Given the description of an element on the screen output the (x, y) to click on. 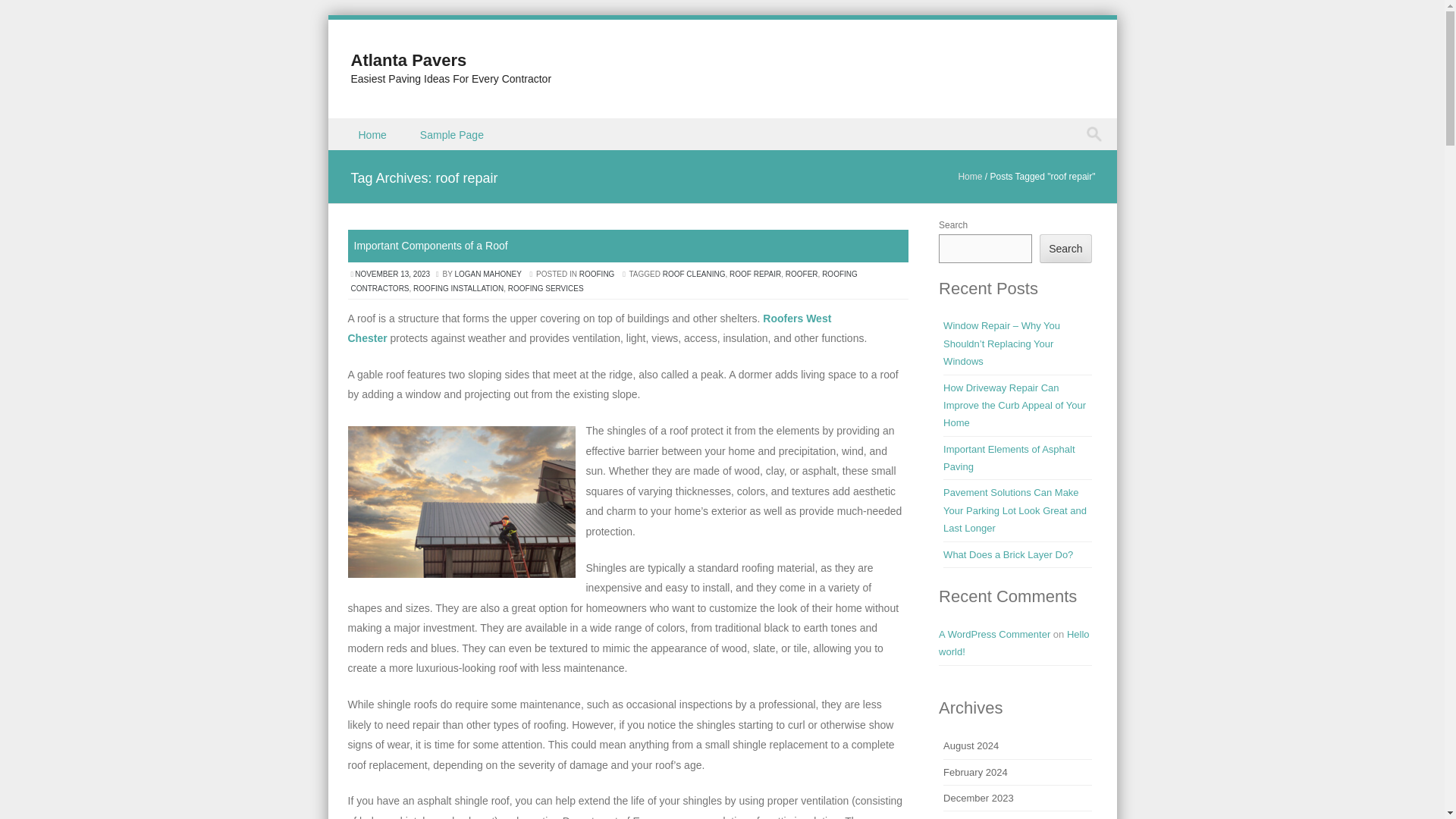
Search (1065, 248)
Sample Page (453, 133)
ROOF CLEANING (693, 274)
ROOF REPAIR (754, 274)
7:16 am (392, 274)
November 2023 (978, 818)
Atlanta Pavers (407, 59)
Important Elements of Asphalt Paving (1008, 457)
Menu (353, 150)
A WordPress Commenter (994, 633)
LOGAN MAHONEY (487, 274)
ROOFING SERVICES (545, 288)
Skip to content (362, 128)
NOVEMBER 13, 2023 (392, 274)
